Given the description of an element on the screen output the (x, y) to click on. 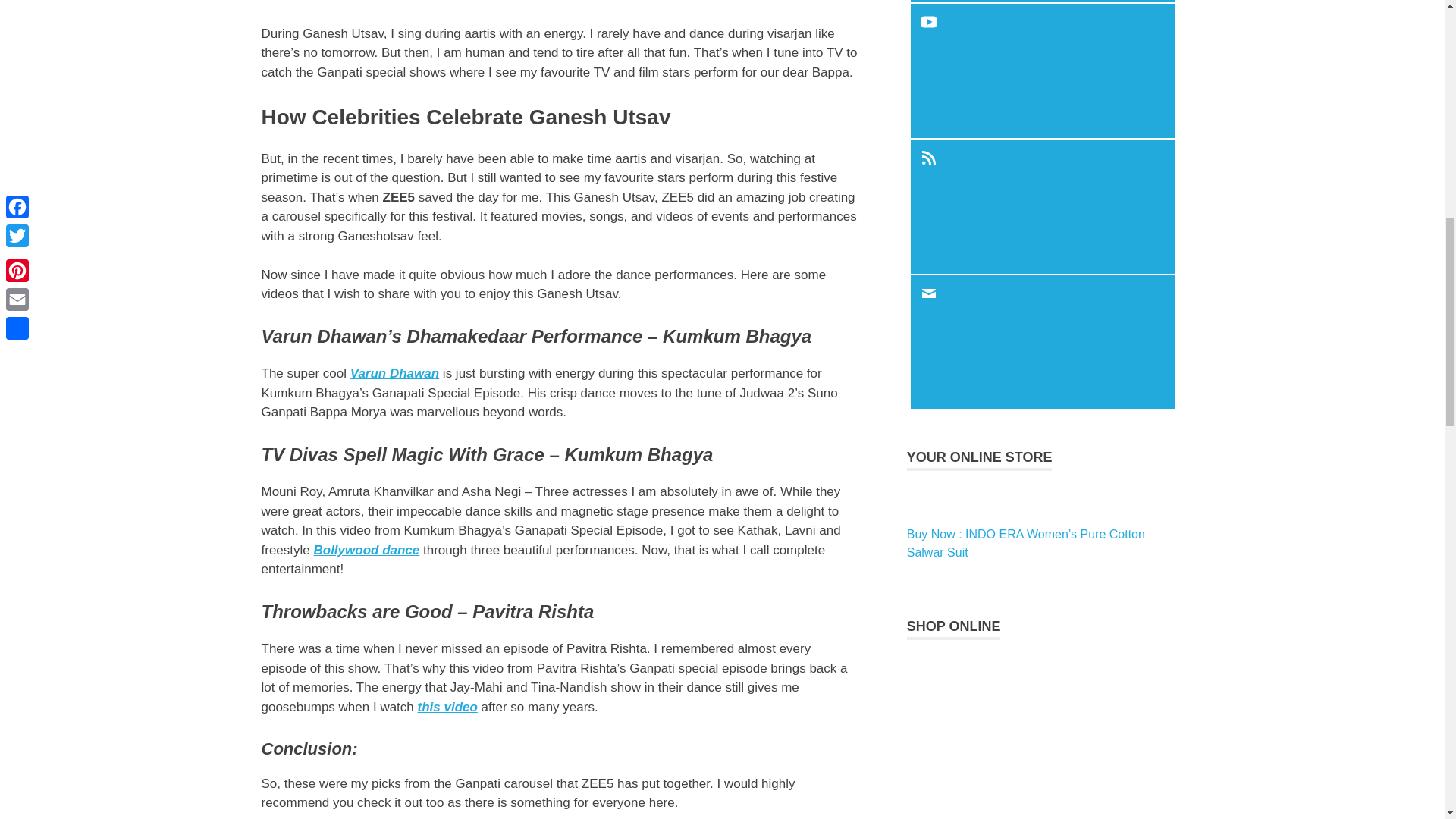
Varun Dhawan (394, 373)
this video (447, 707)
Bollywood dance (366, 549)
